Given the description of an element on the screen output the (x, y) to click on. 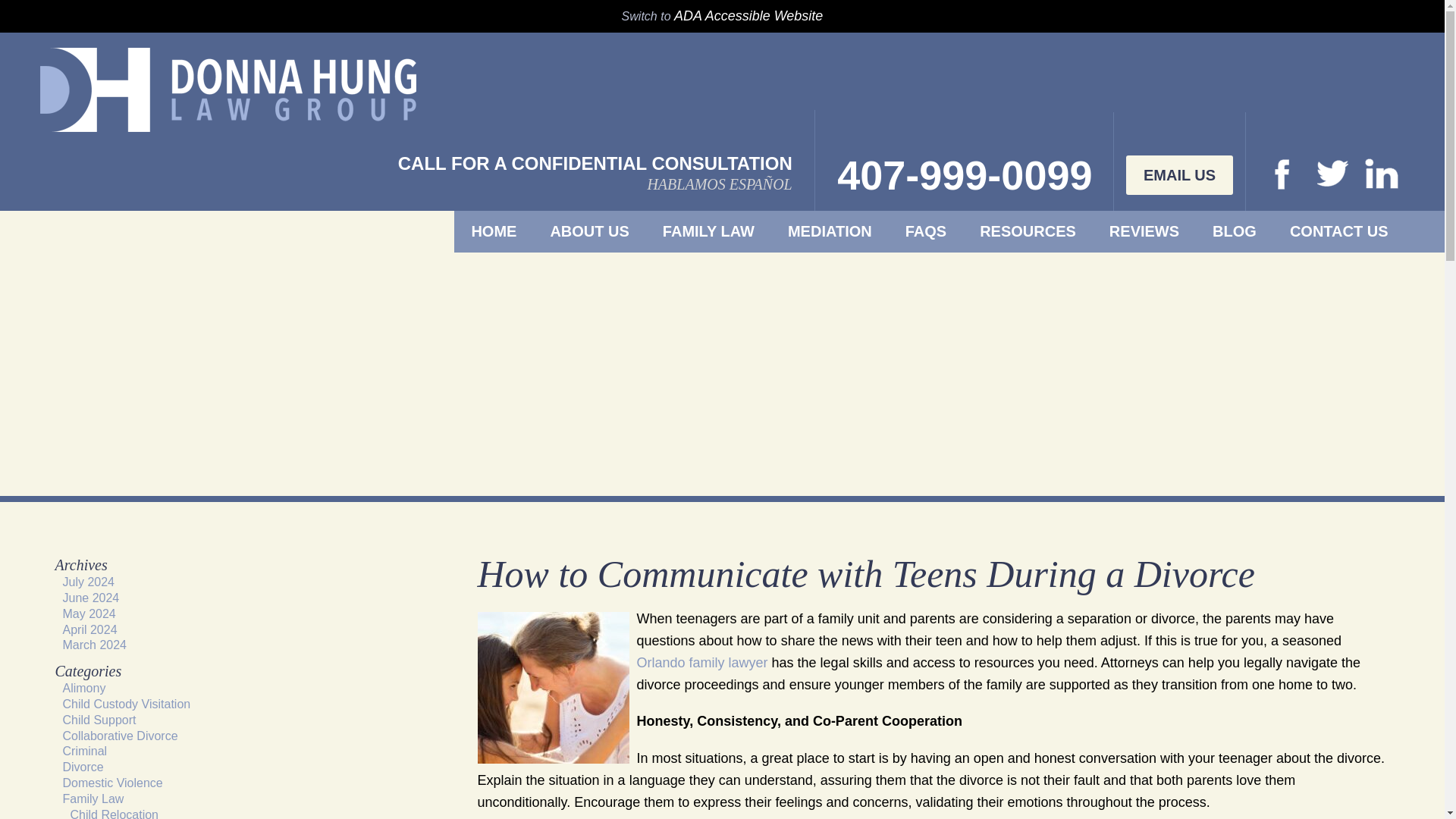
FAMILY LAW (707, 231)
MEDIATION (829, 231)
CONTACT US (1338, 231)
REVIEWS (1144, 231)
EMAIL US (1179, 174)
BLOG (1234, 231)
MomTeenDaughter (552, 687)
LinkedIn (1310, 173)
FAQS (925, 231)
407-999-0099 (964, 174)
HOME (493, 231)
ABOUT US (589, 231)
ADA Accessible Website (748, 15)
RESOURCES (1027, 231)
Orlando family lawyer (702, 662)
